Given the description of an element on the screen output the (x, y) to click on. 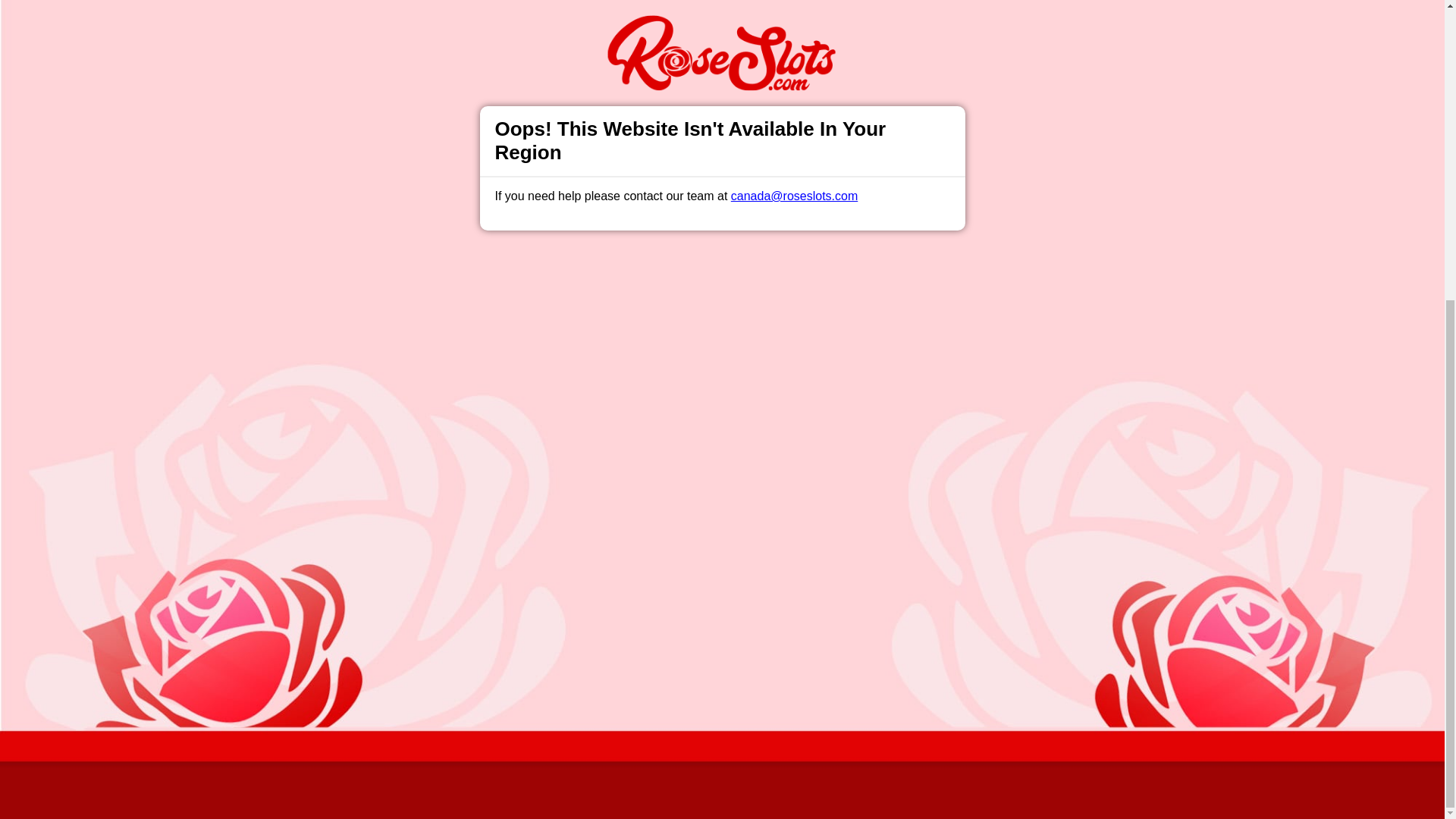
Affiliates (791, 502)
Jumpman Gaming Limited (532, 705)
Cookie Policy (800, 334)
Privacy Policy (671, 502)
Responsible Gaming (407, 502)
www.jumpmancares.co.uk (616, 668)
Back To All Games (722, 404)
Help (489, 502)
Back To All Games (721, 404)
Blog (738, 502)
